Given the description of an element on the screen output the (x, y) to click on. 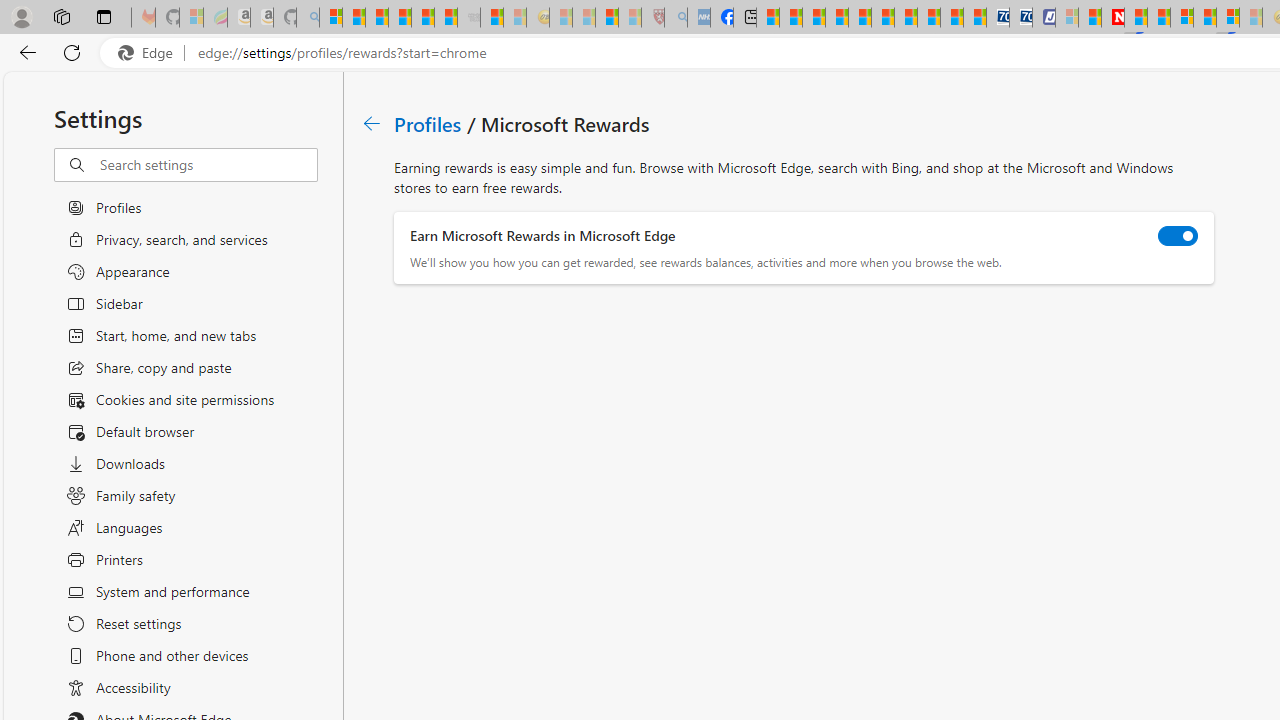
14 Common Myths Debunked By Scientific Facts (1158, 17)
Cheap Car Rentals - Save70.com (997, 17)
Cheap Hotels - Save70.com (1020, 17)
